Given the description of an element on the screen output the (x, y) to click on. 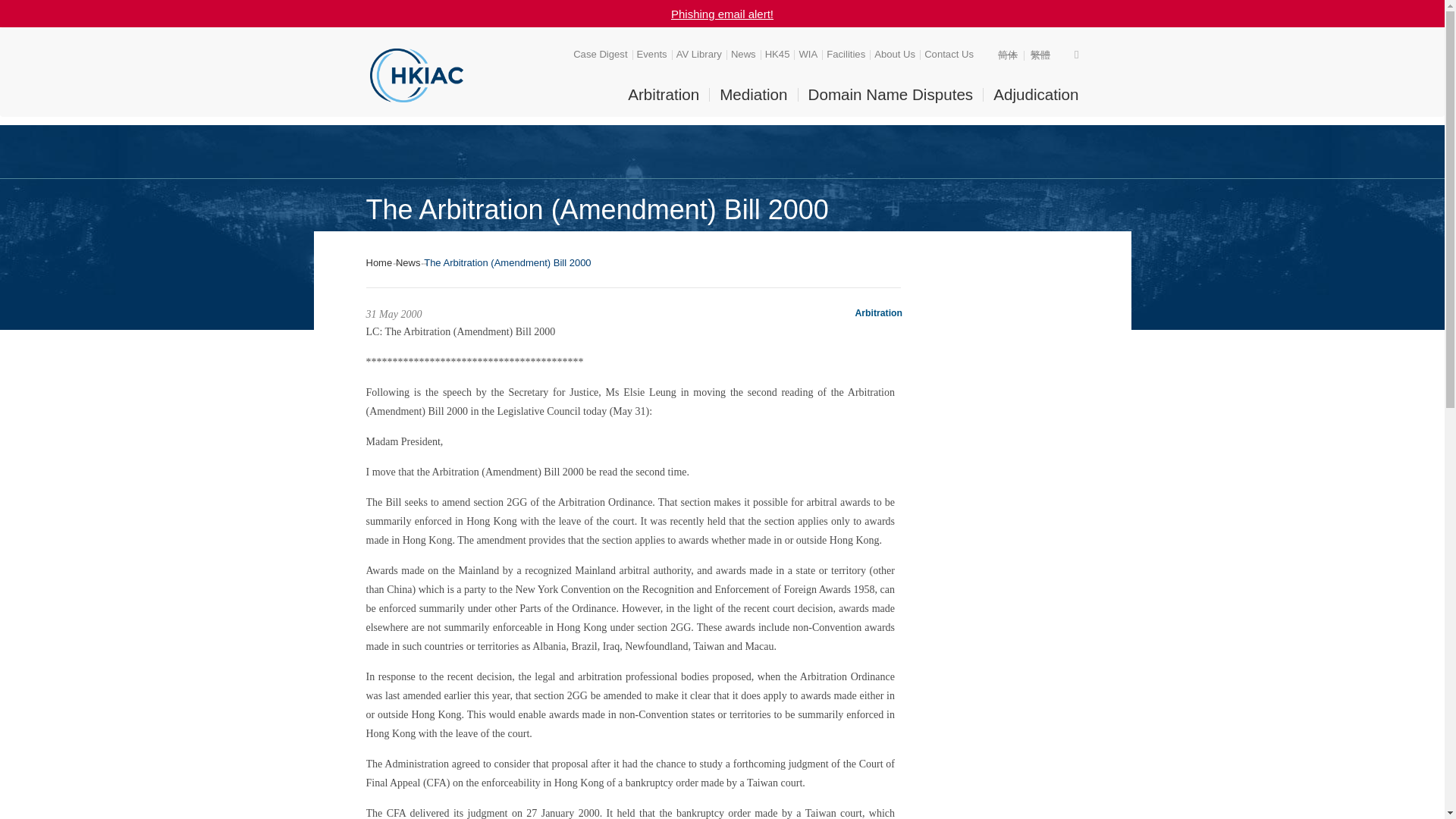
HKIAC (415, 75)
Phishing email alert! (722, 13)
